Given the description of an element on the screen output the (x, y) to click on. 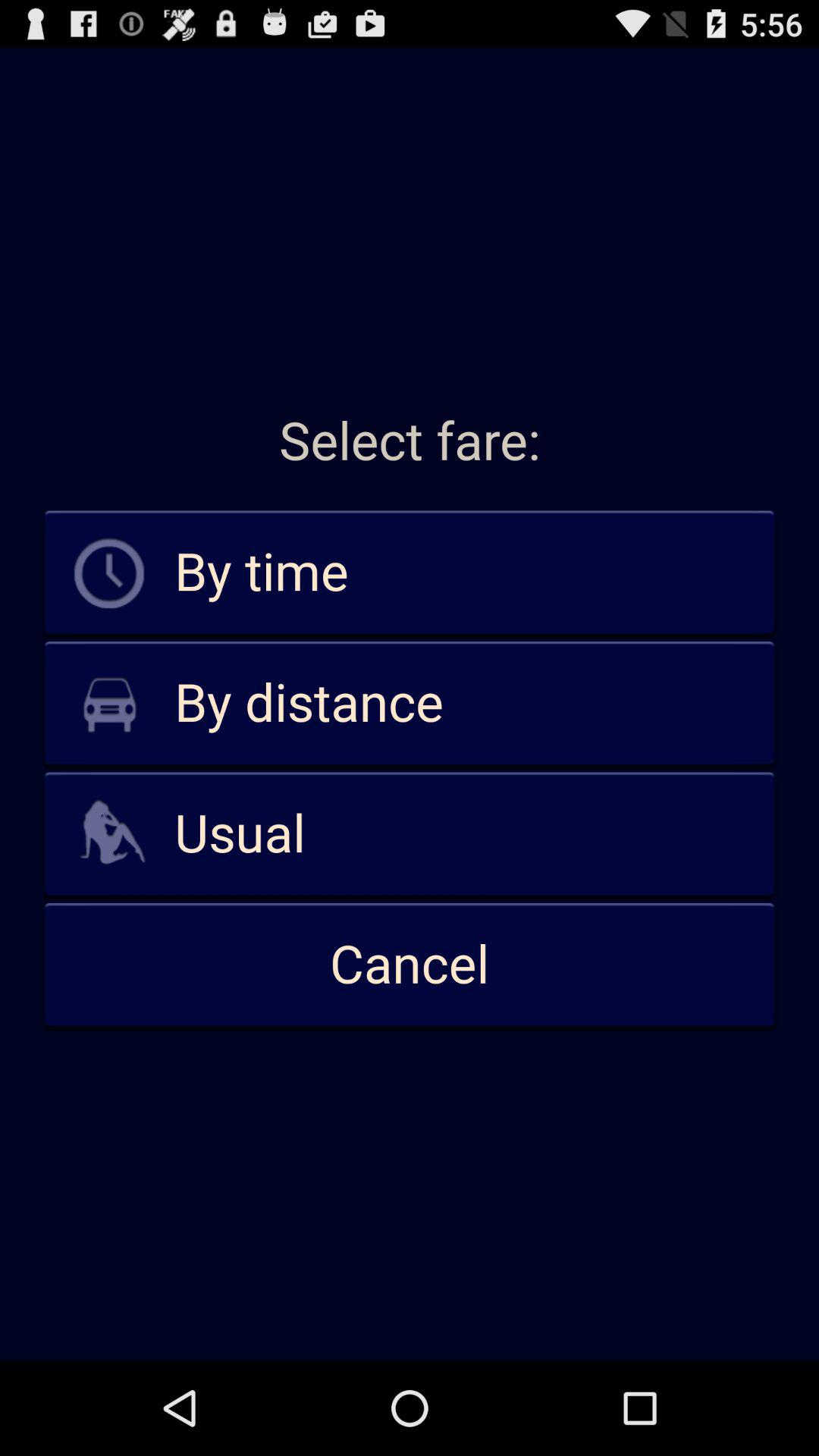
swipe until the by distance item (409, 703)
